Given the description of an element on the screen output the (x, y) to click on. 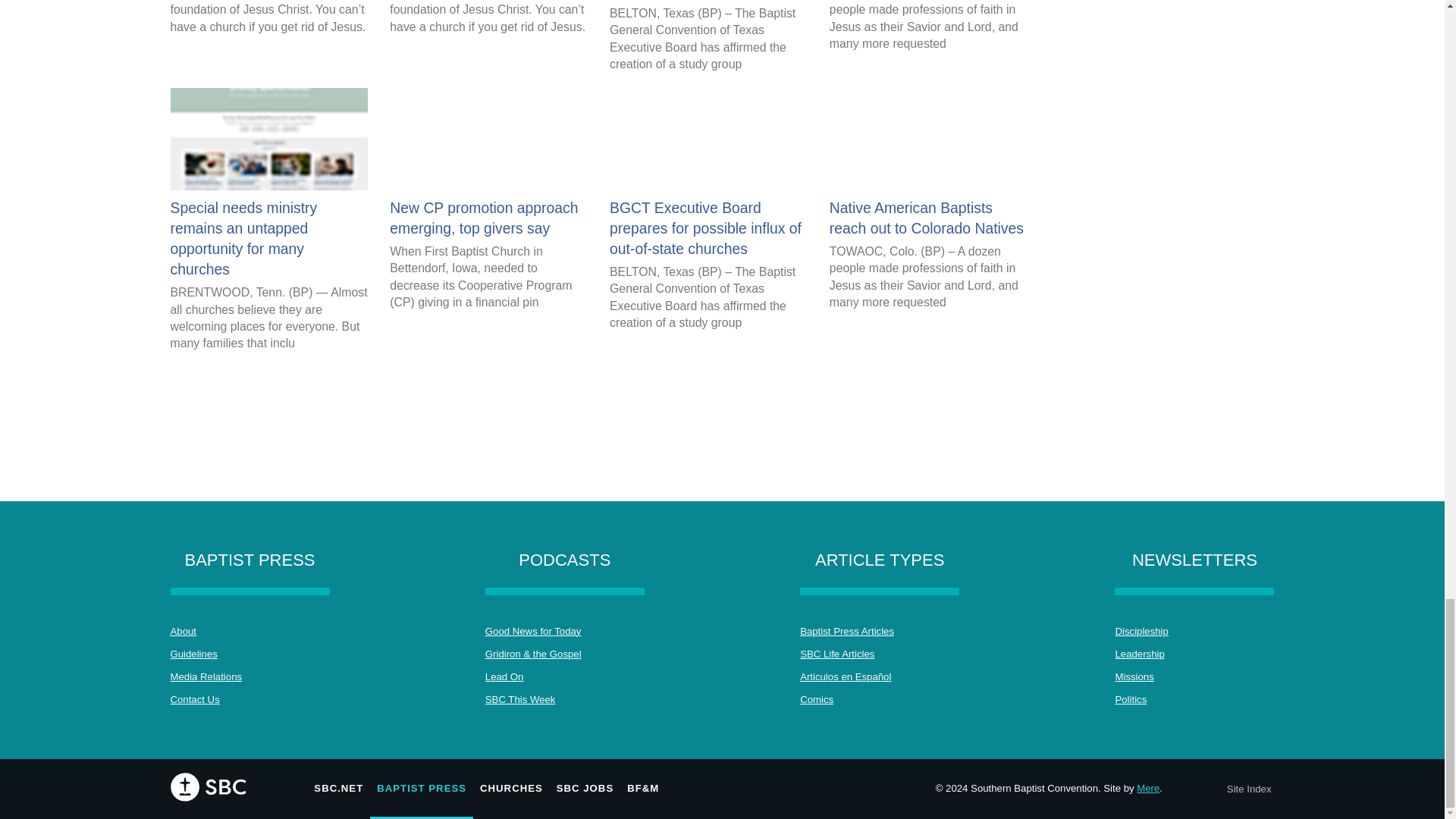
Native American Baptists reach out to Colorado Natives (927, 26)
